Given the description of an element on the screen output the (x, y) to click on. 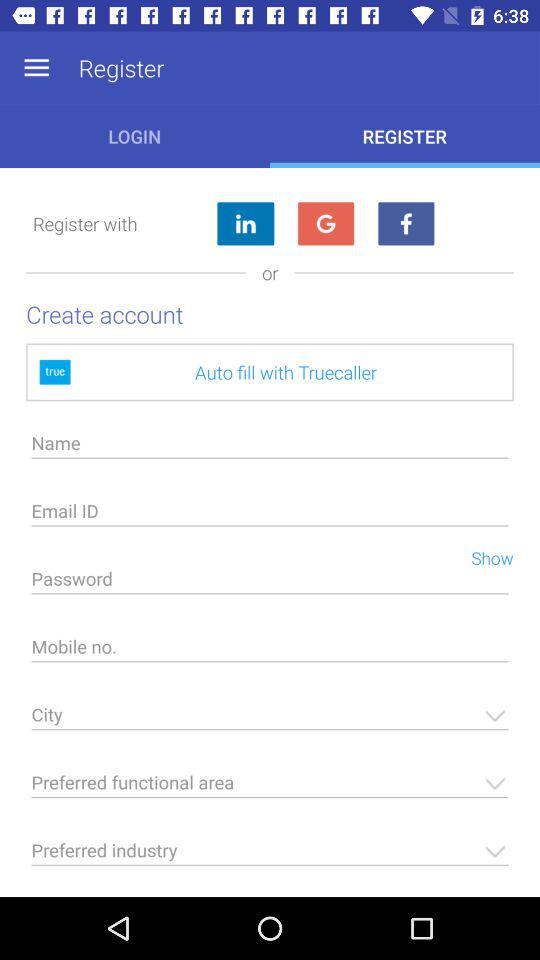
open icon on the right (484, 556)
